Given the description of an element on the screen output the (x, y) to click on. 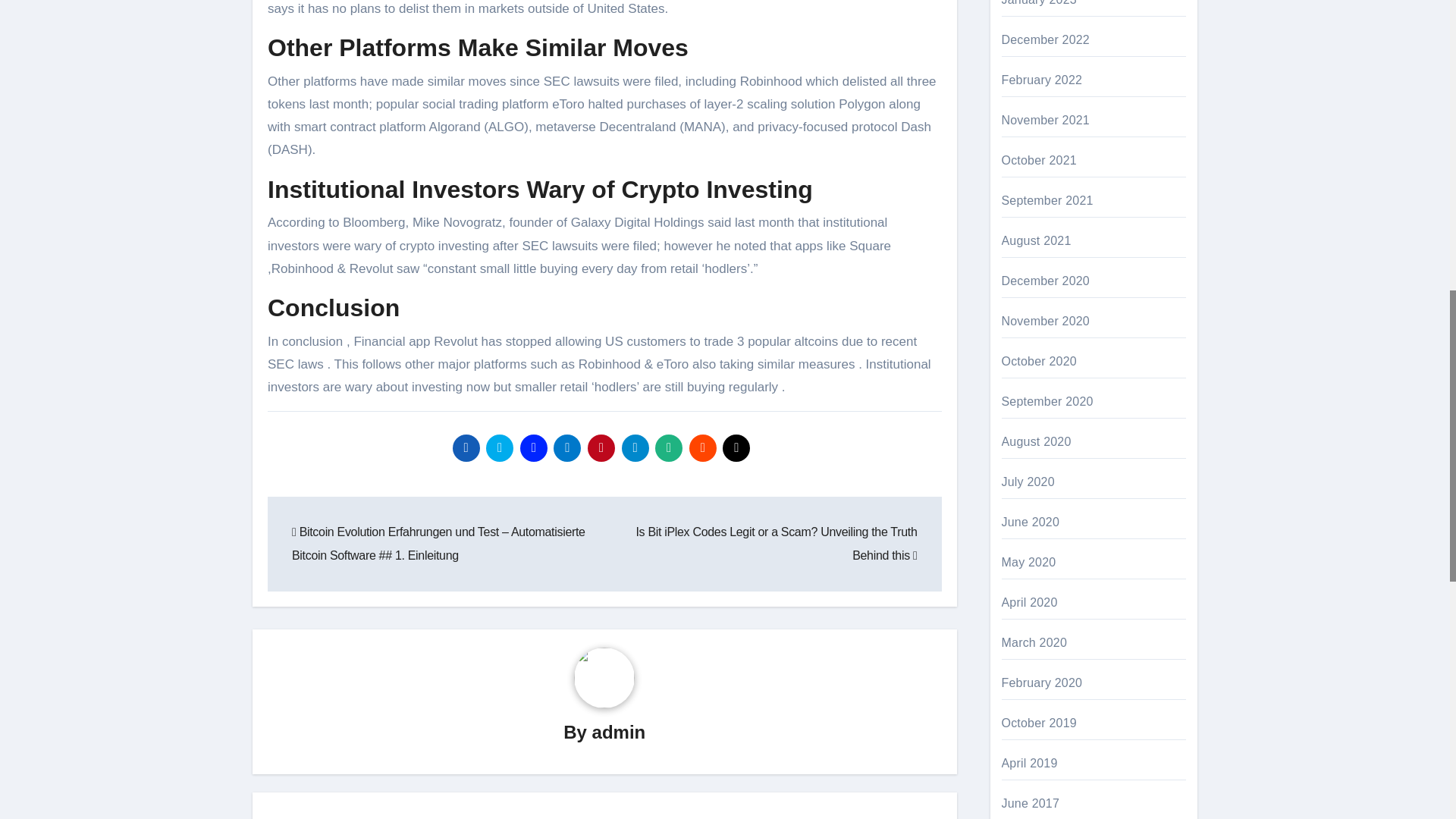
admin (619, 731)
